Given the description of an element on the screen output the (x, y) to click on. 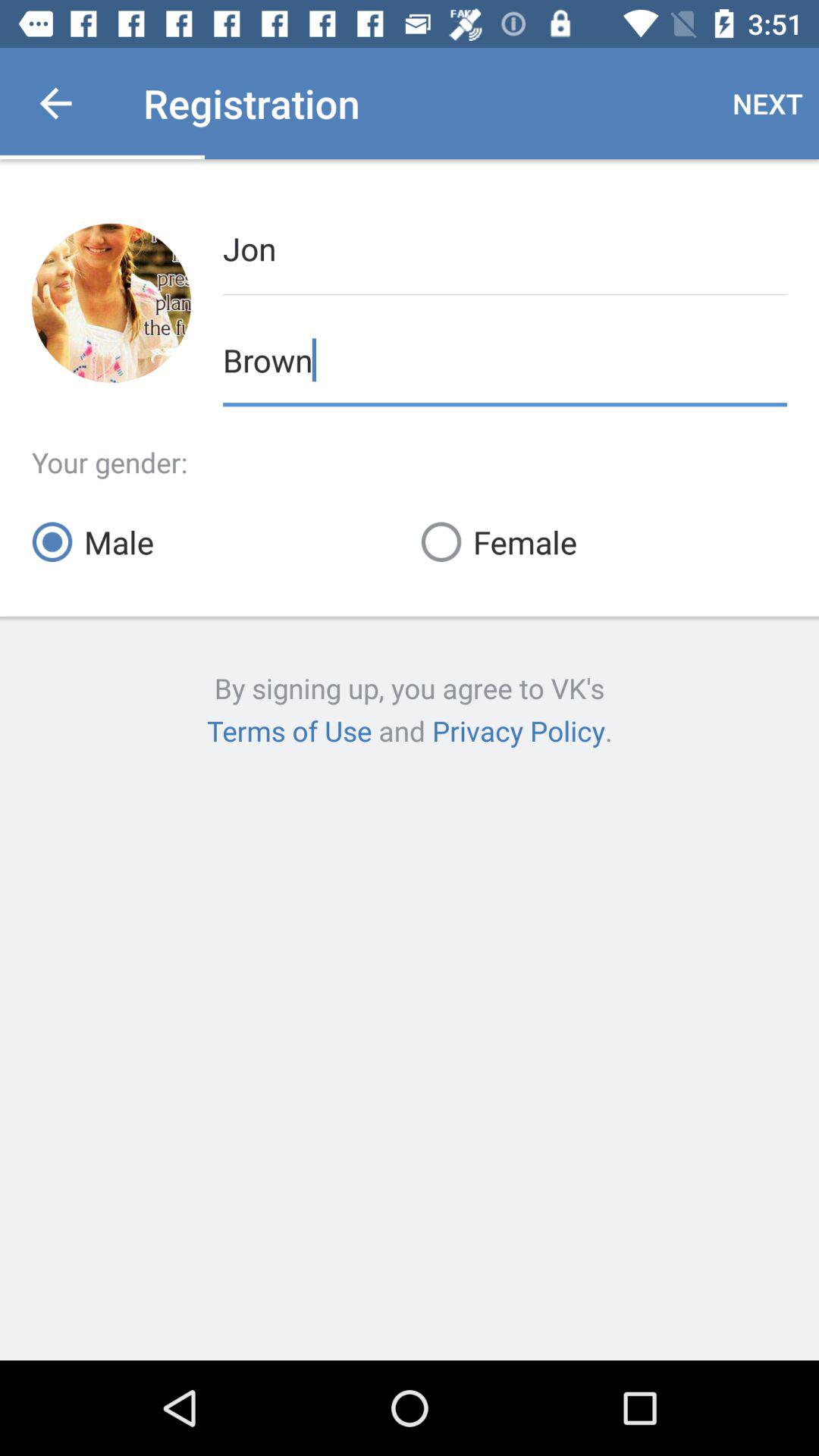
turn off icon below next (504, 247)
